Given the description of an element on the screen output the (x, y) to click on. 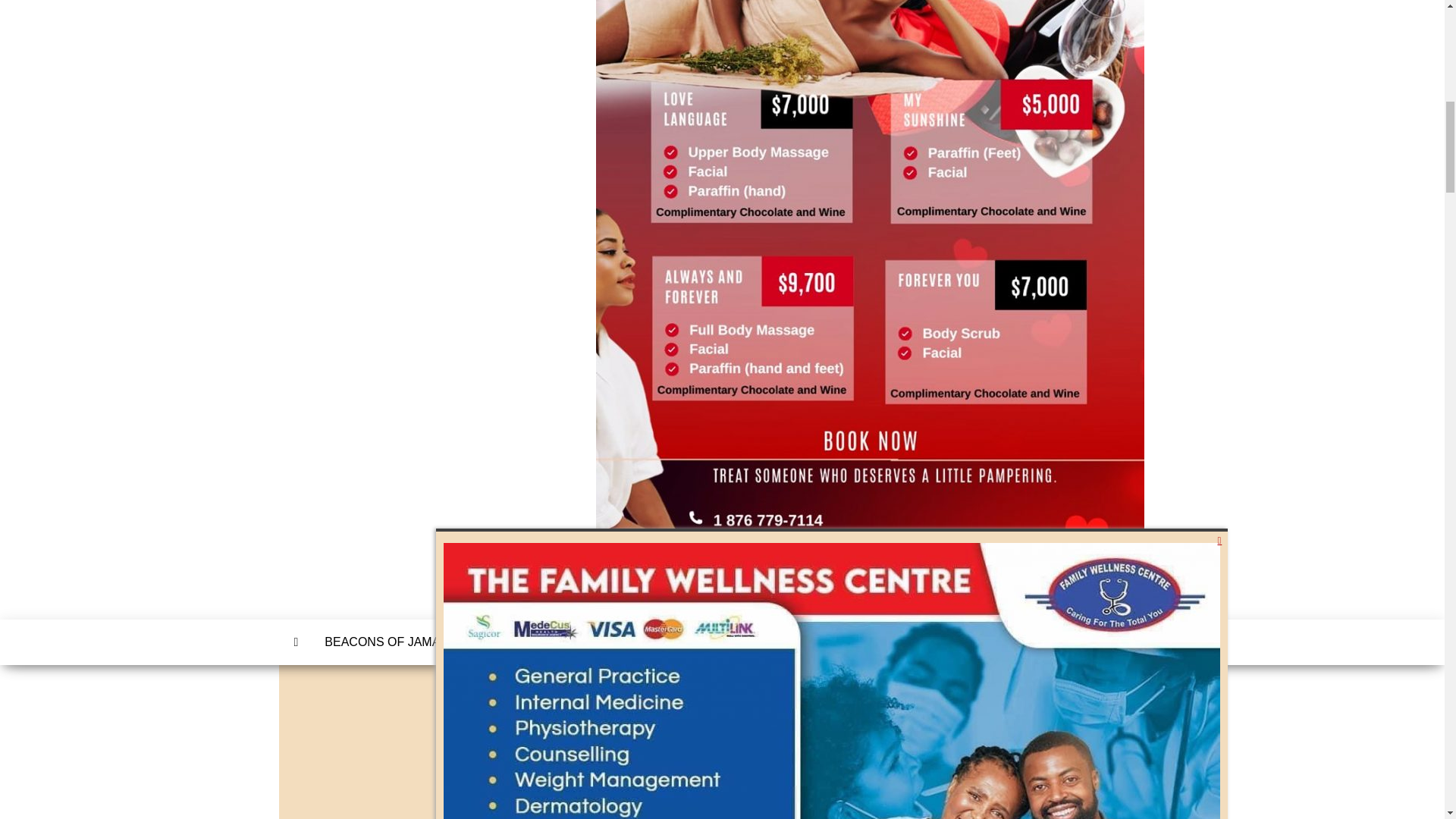
BEACONS OF JAMAICA (392, 642)
FUNERAL REPORTS (707, 642)
THE BIG STORY - NEWS (554, 642)
FUNERAL REPORTS (707, 642)
BEACONS OF JAMAICA (392, 642)
